Given the description of an element on the screen output the (x, y) to click on. 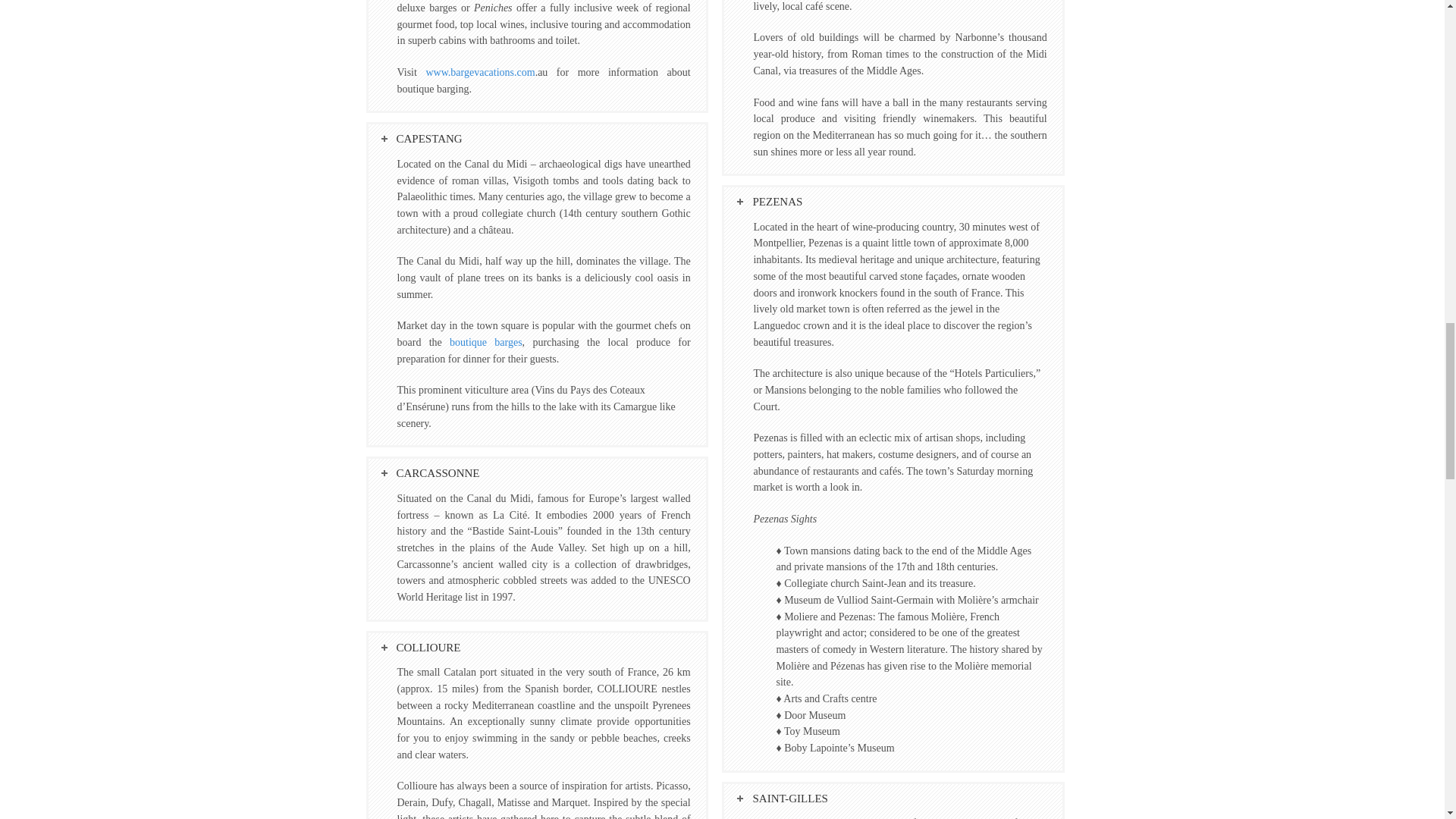
www.bargevacations.com (479, 71)
Barge Vacations (485, 342)
boutique barges (485, 342)
